Given the description of an element on the screen output the (x, y) to click on. 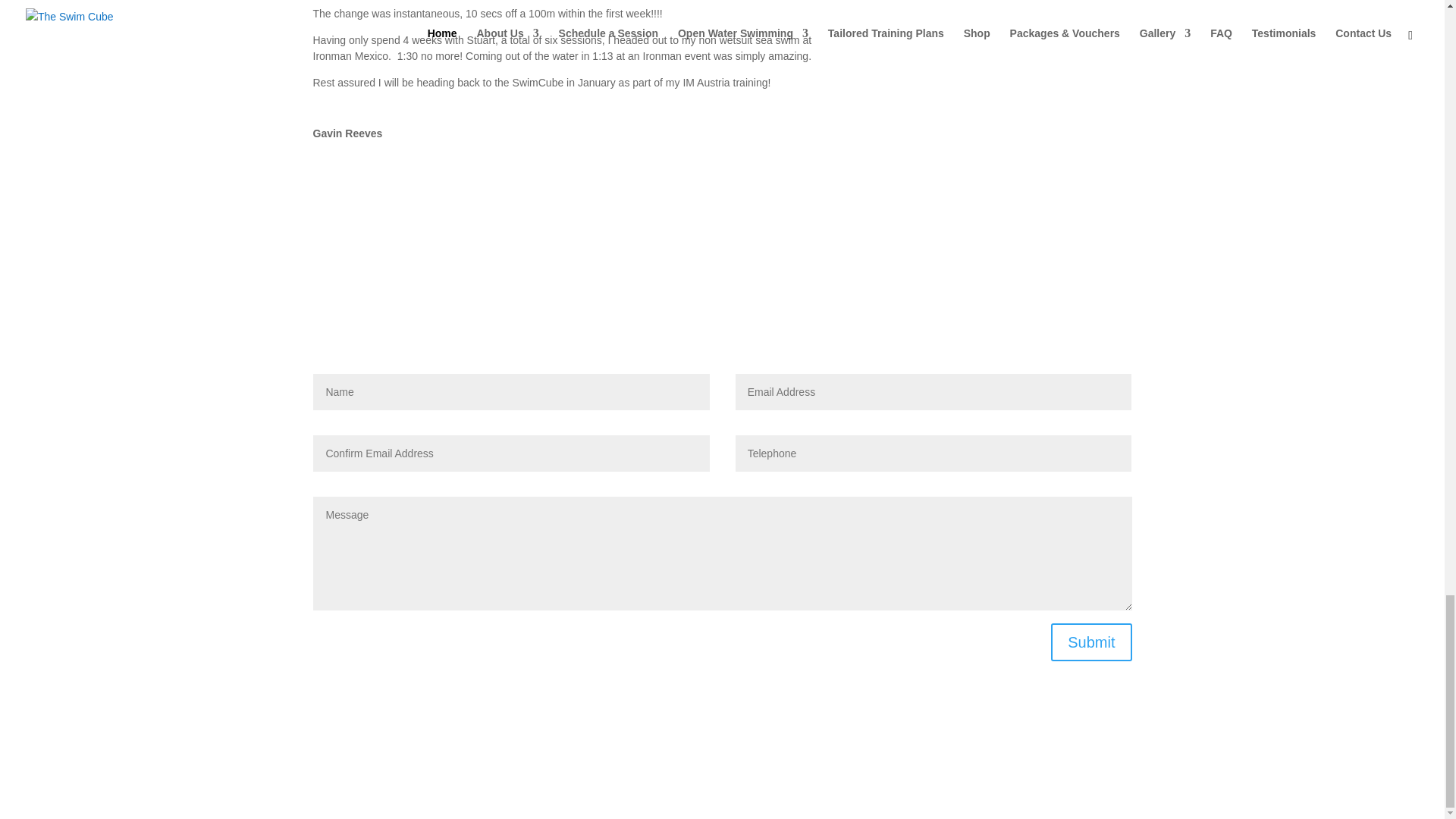
Follow on Facebook (691, 739)
Submit (1091, 641)
Follow on Twitter (721, 739)
Follow on Instagram (751, 739)
